Given the description of an element on the screen output the (x, y) to click on. 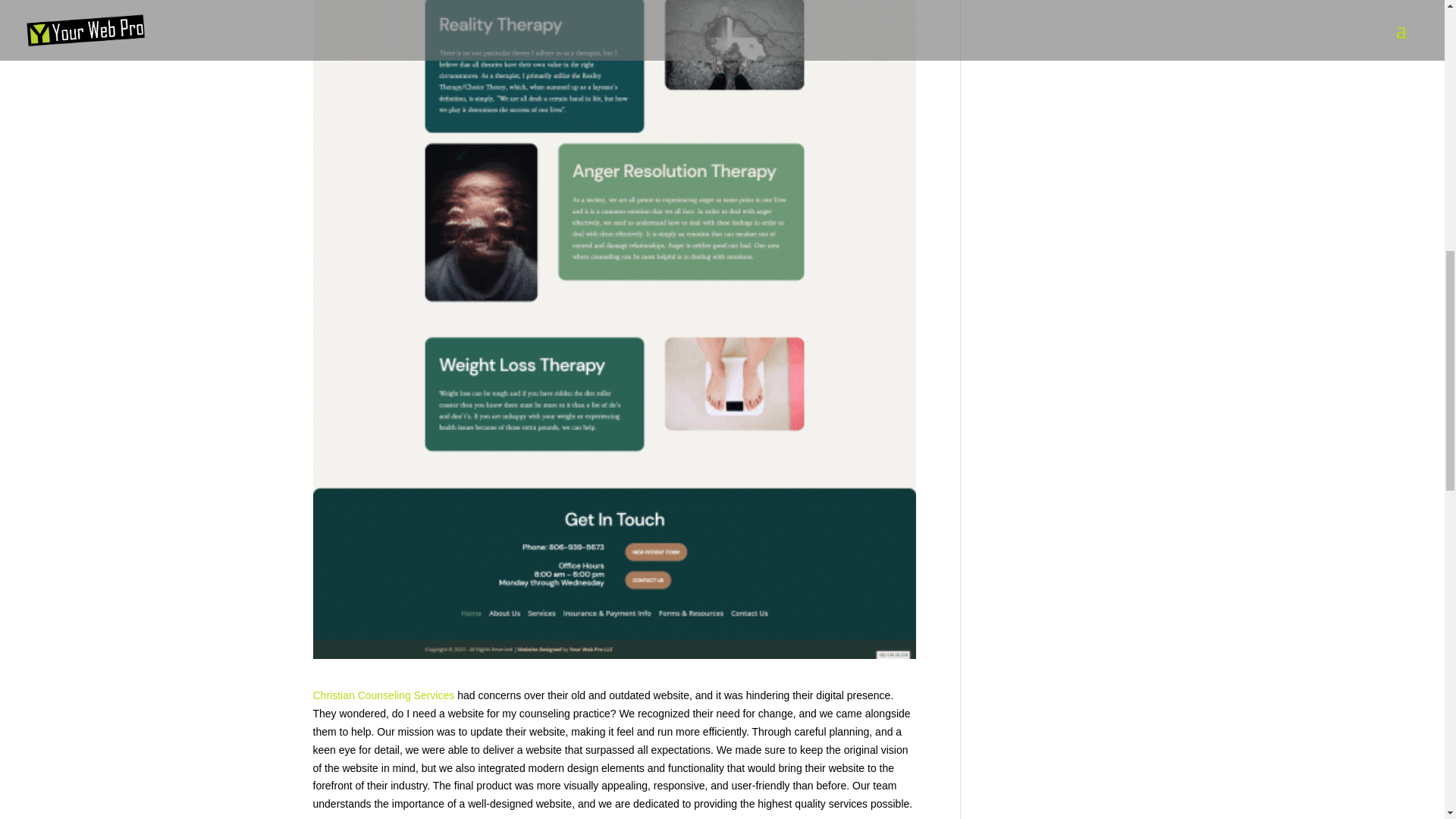
Christian Counseling Services (383, 695)
